Given the description of an element on the screen output the (x, y) to click on. 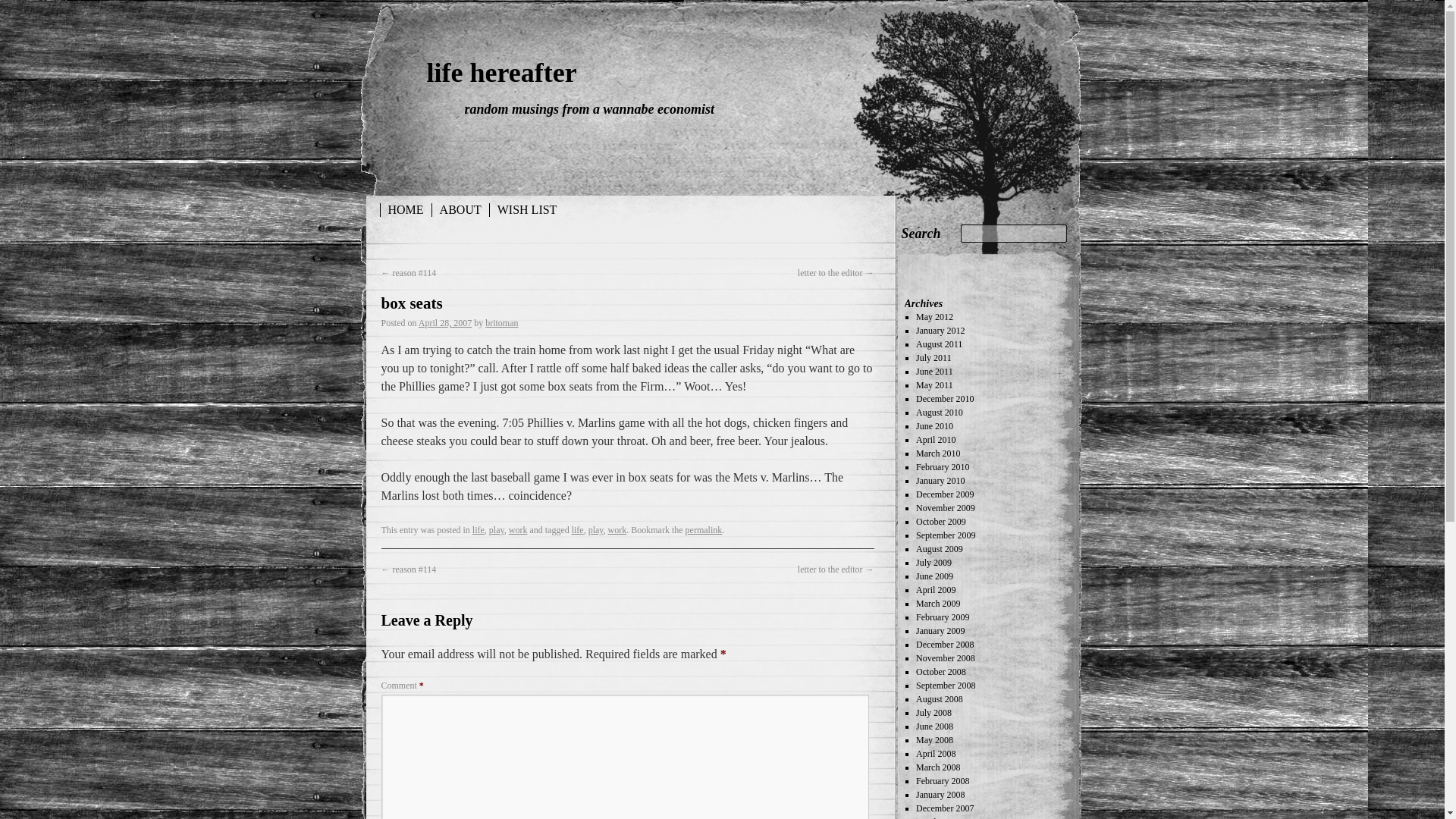
play (496, 529)
HOME (405, 210)
September 2009 (945, 534)
May 2011 (934, 385)
August 2009 (938, 548)
View all posts by britoman (501, 322)
July 2009 (933, 562)
life hereafter (501, 72)
June 2010 (934, 425)
December 2010 (944, 398)
